Given the description of an element on the screen output the (x, y) to click on. 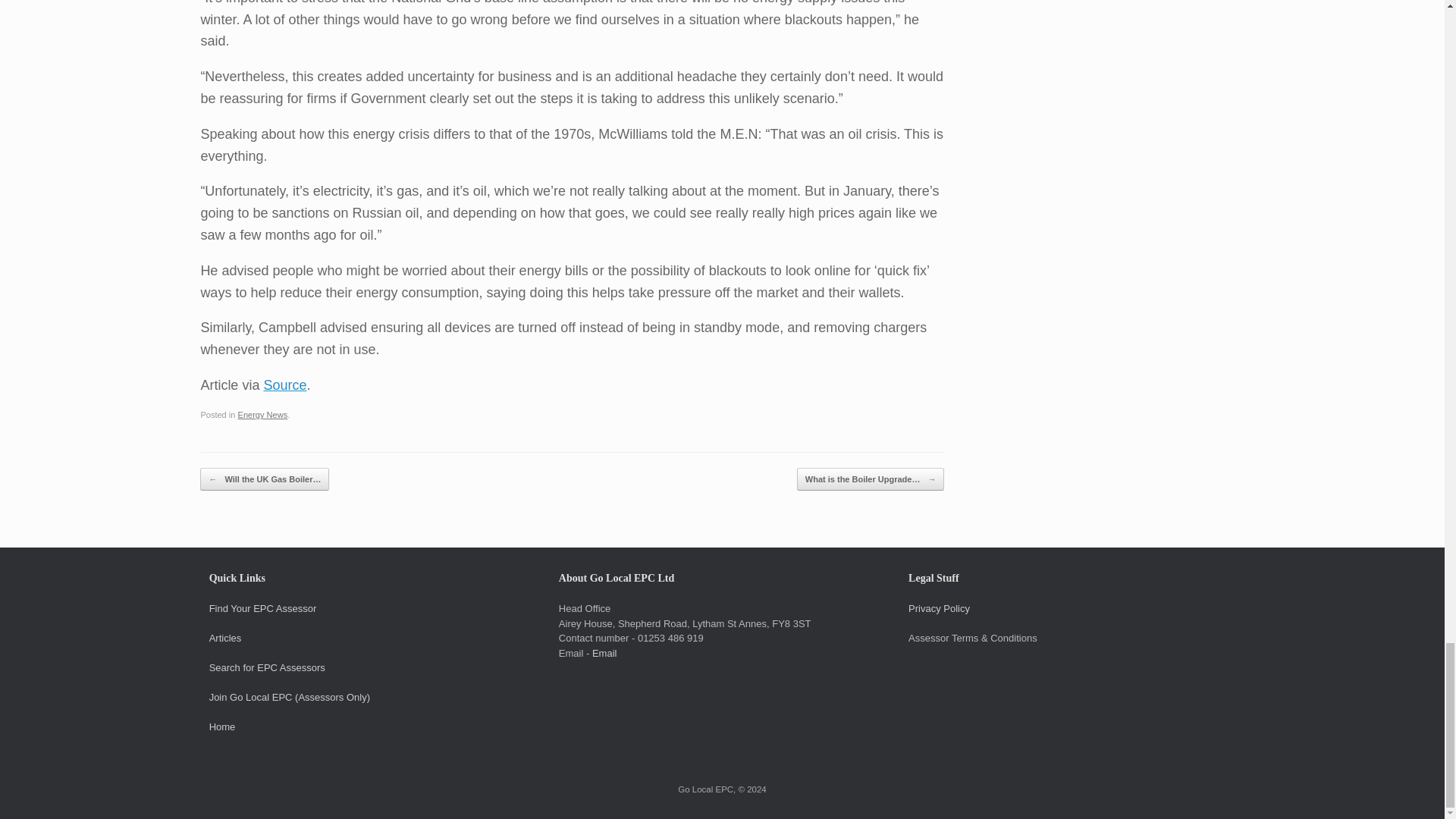
Source (284, 385)
Home (222, 726)
Search for EPC Assessors (266, 667)
Articles (225, 637)
Email (604, 653)
Energy News (263, 414)
Find Your EPC Assessor (263, 608)
Privacy Policy (938, 608)
